Given the description of an element on the screen output the (x, y) to click on. 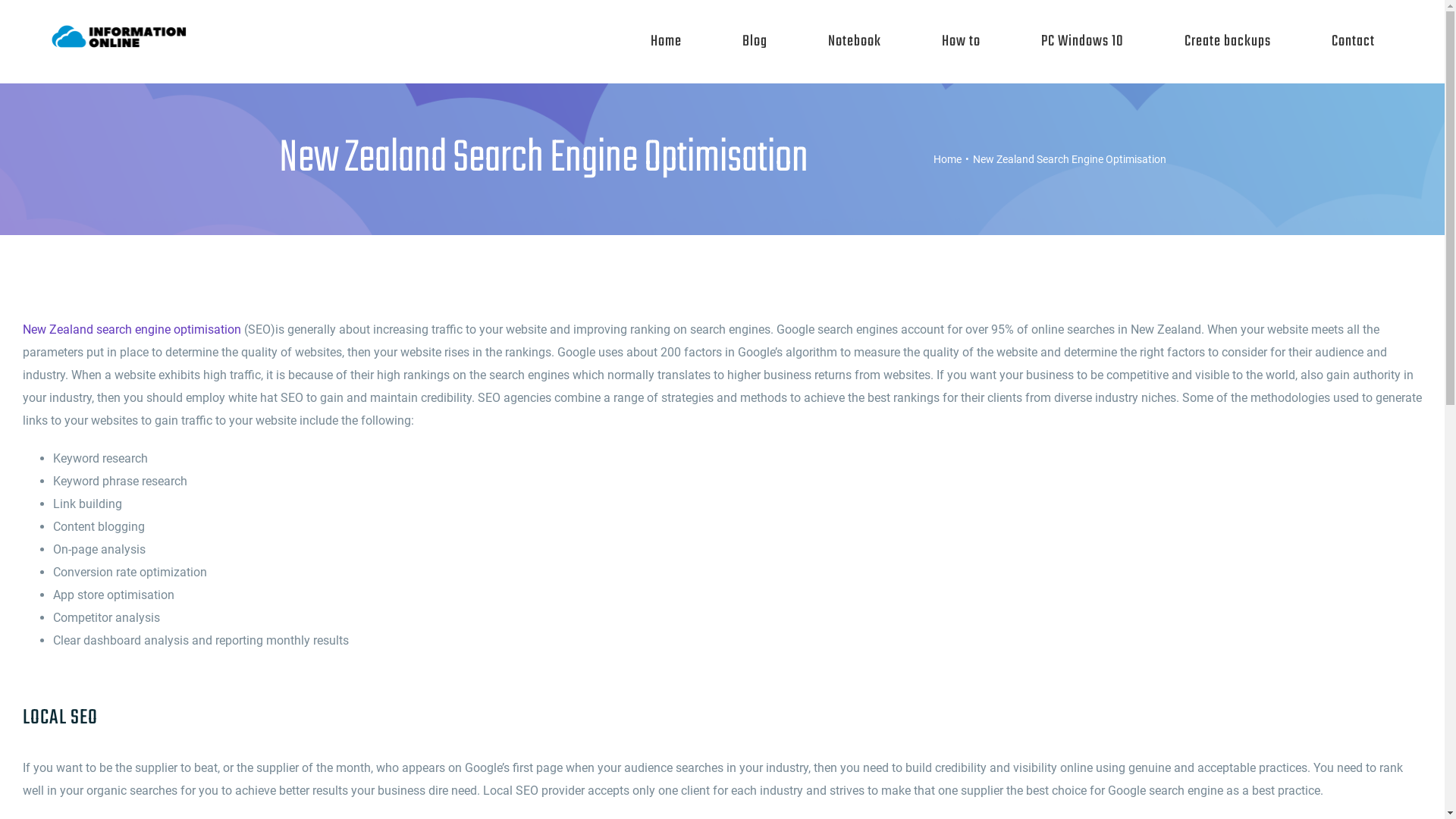
Contact Element type: text (1352, 41)
Create backups Element type: text (1227, 41)
PC Windows 10 Element type: text (1082, 41)
Notebook Element type: text (854, 41)
Blog Element type: text (754, 41)
How to Element type: text (960, 41)
Home Element type: text (665, 41)
Home Element type: text (946, 159)
New Zealand search engine optimisation Element type: text (131, 329)
